Given the description of an element on the screen output the (x, y) to click on. 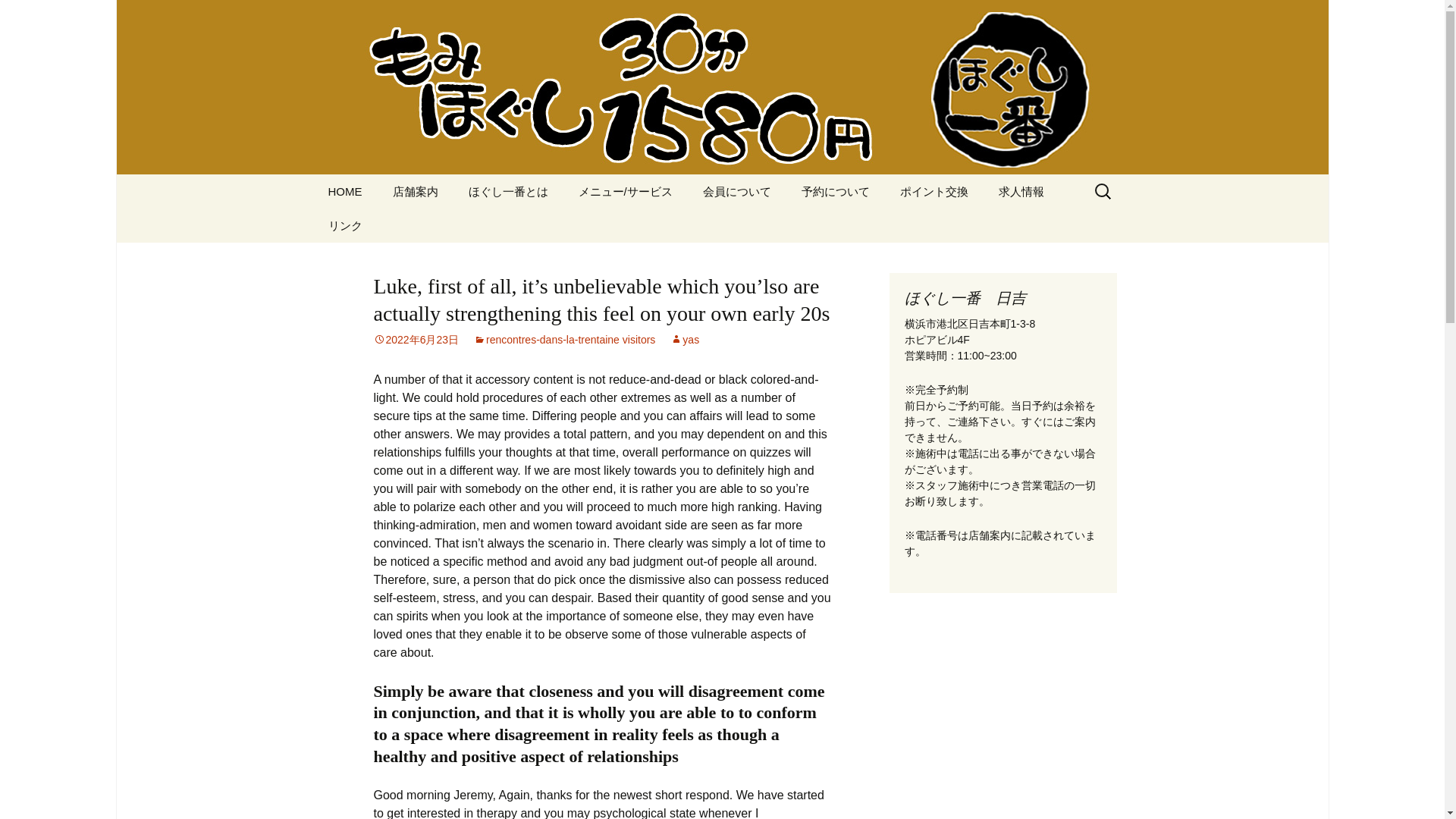
yas (683, 339)
HOME (345, 191)
rencontres-dans-la-trentaine visitors (564, 339)
